Given the description of an element on the screen output the (x, y) to click on. 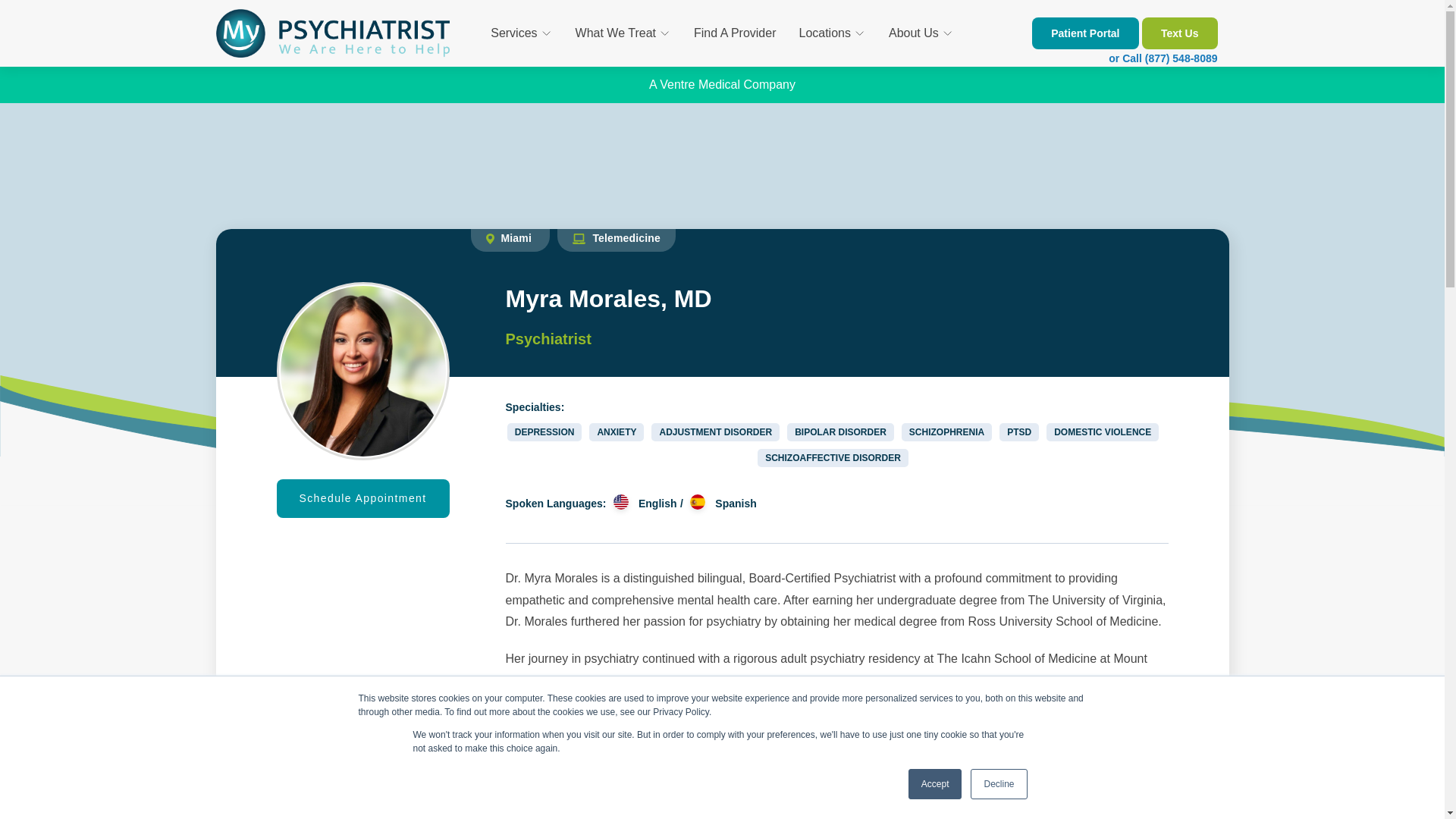
Services (521, 33)
Accept (935, 784)
What We Treat (623, 33)
Locations (832, 33)
Text Us (1179, 33)
Find A Provider (734, 33)
What We Treat (623, 33)
Decline (998, 784)
Schedule Appointment (362, 498)
About Us (921, 33)
Patient Portal (1085, 33)
Services (521, 33)
Find A Provider (734, 33)
Locations (832, 33)
